Given the description of an element on the screen output the (x, y) to click on. 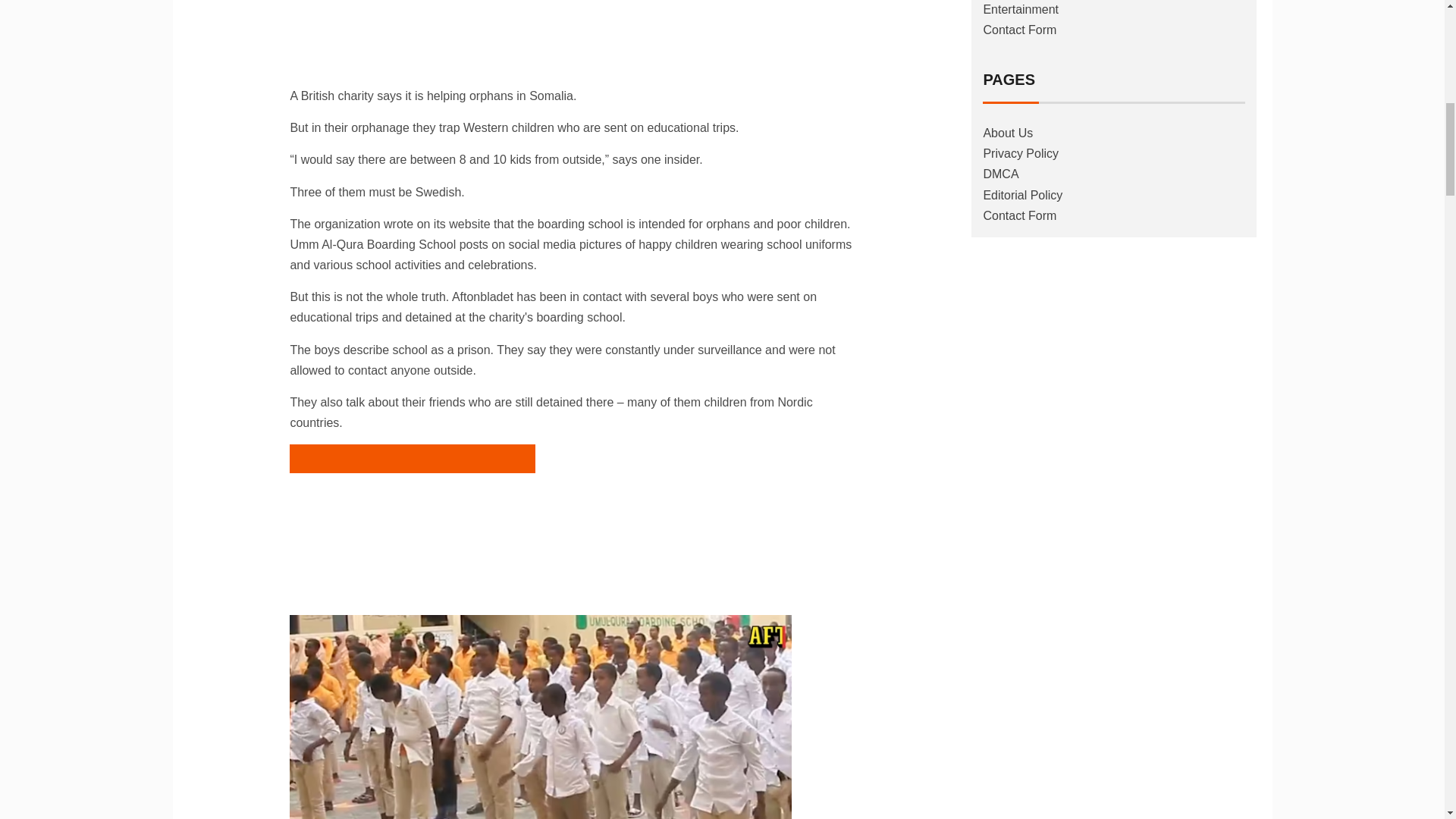
share share (411, 33)
Expand left (411, 516)
